Given the description of an element on the screen output the (x, y) to click on. 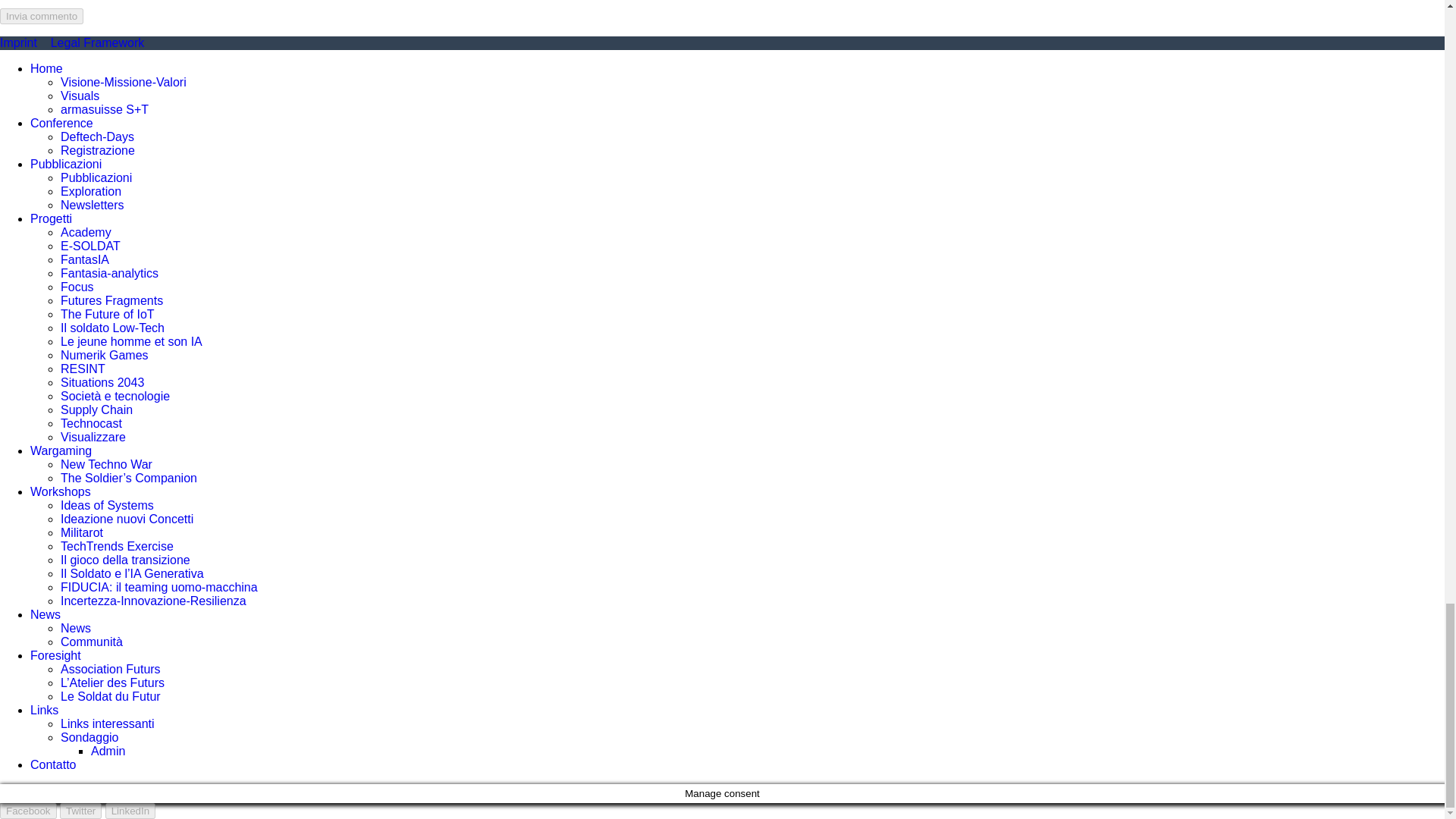
Invia commento (41, 16)
